Given the description of an element on the screen output the (x, y) to click on. 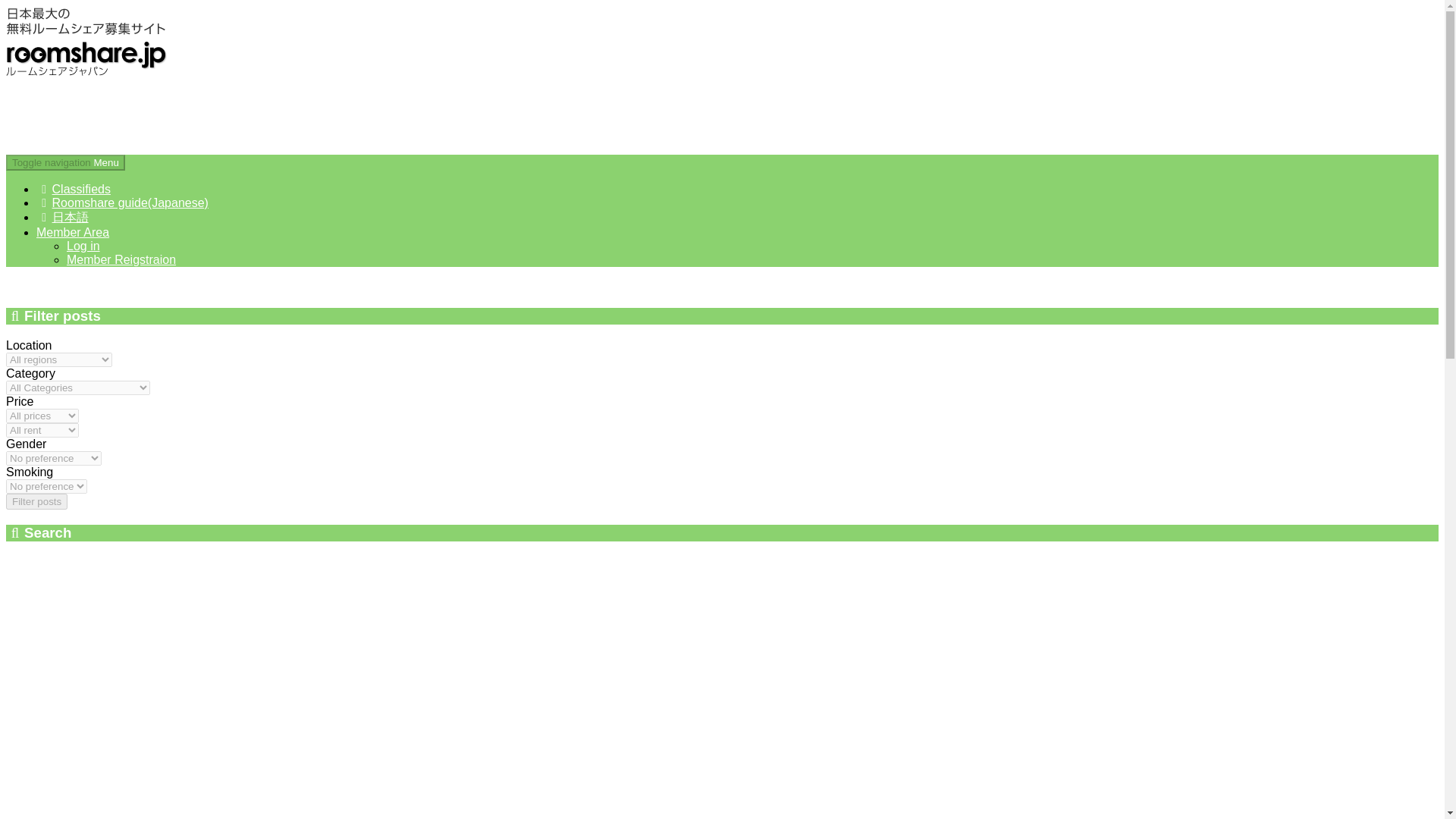
New Post (39, 285)
Classifieds (73, 188)
Member Area (72, 232)
Log in (83, 245)
Filter posts (35, 501)
3rd party ad content (281, 112)
Toggle navigation Menu (65, 162)
Member Reigstraion (121, 259)
